Given the description of an element on the screen output the (x, y) to click on. 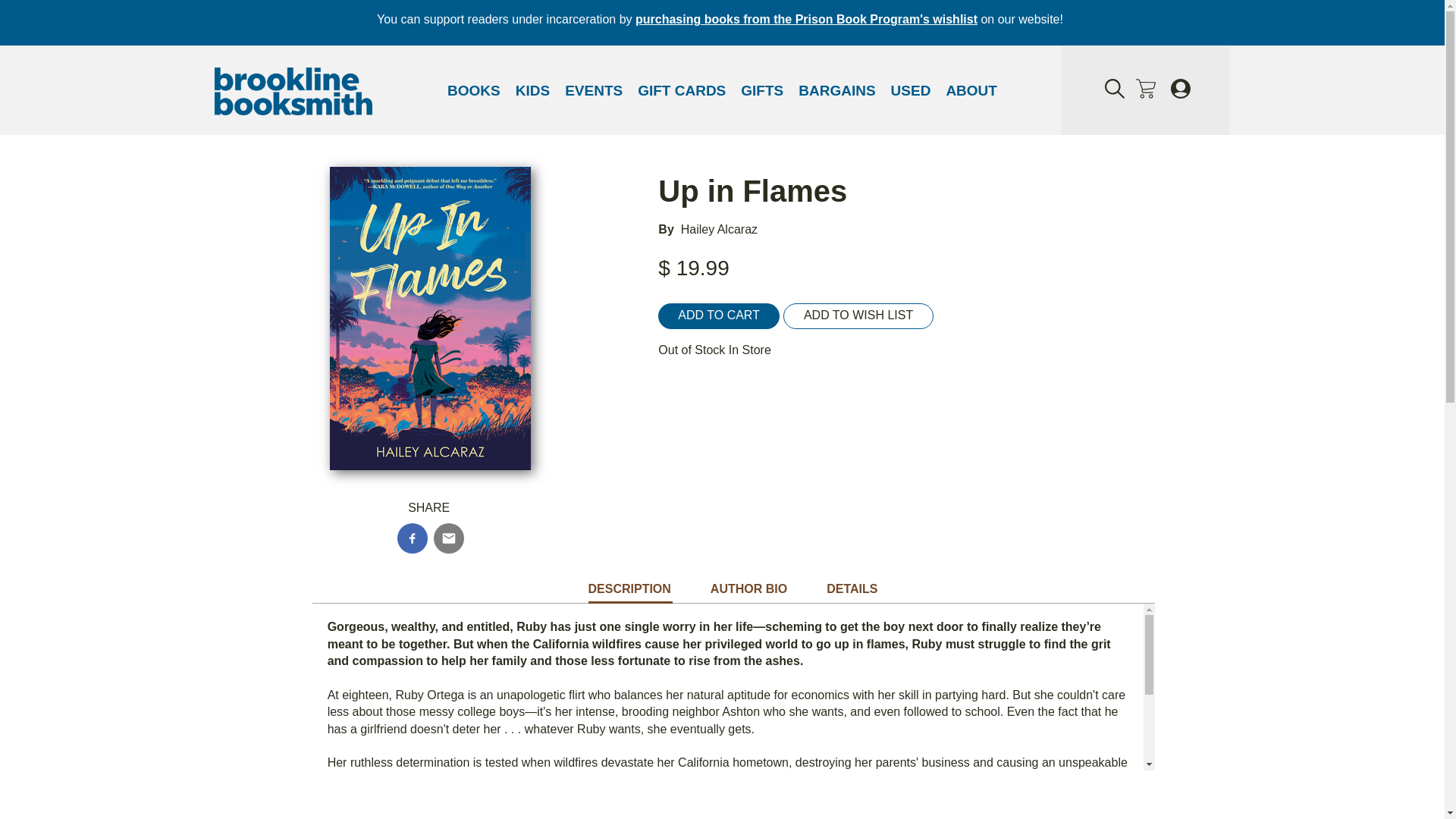
BOOKS (473, 90)
Home (292, 93)
EVENTS (593, 90)
KIDS (532, 90)
purchasing books from the Prison Book Program's wishlist (805, 19)
